Given the description of an element on the screen output the (x, y) to click on. 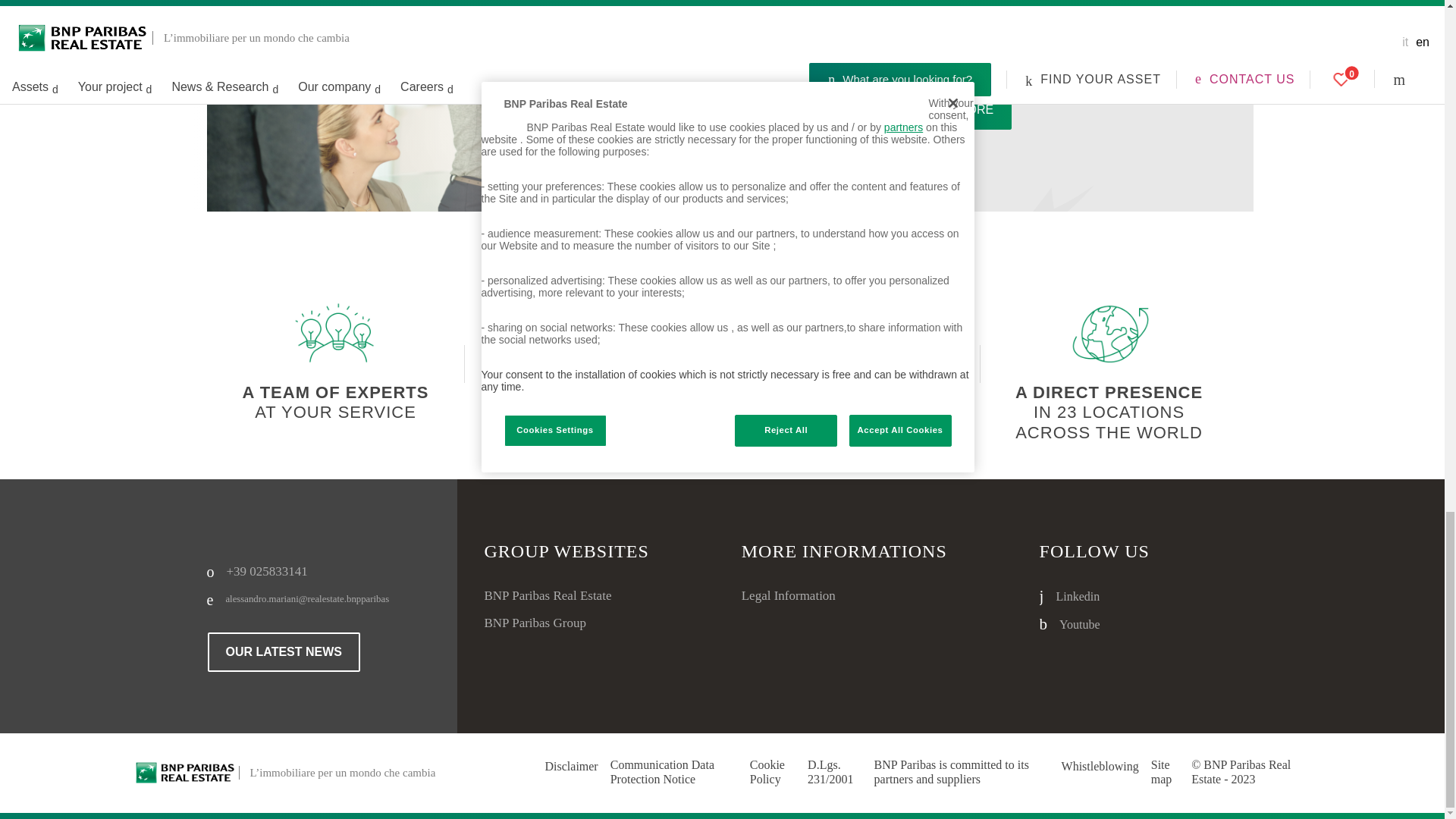
Contact us (323, 599)
BNP Paribas Group (565, 622)
Linkedin (1094, 596)
BNP Paribas Real Estate (565, 595)
Youtube (1094, 624)
Legal Information (824, 595)
